Given the description of an element on the screen output the (x, y) to click on. 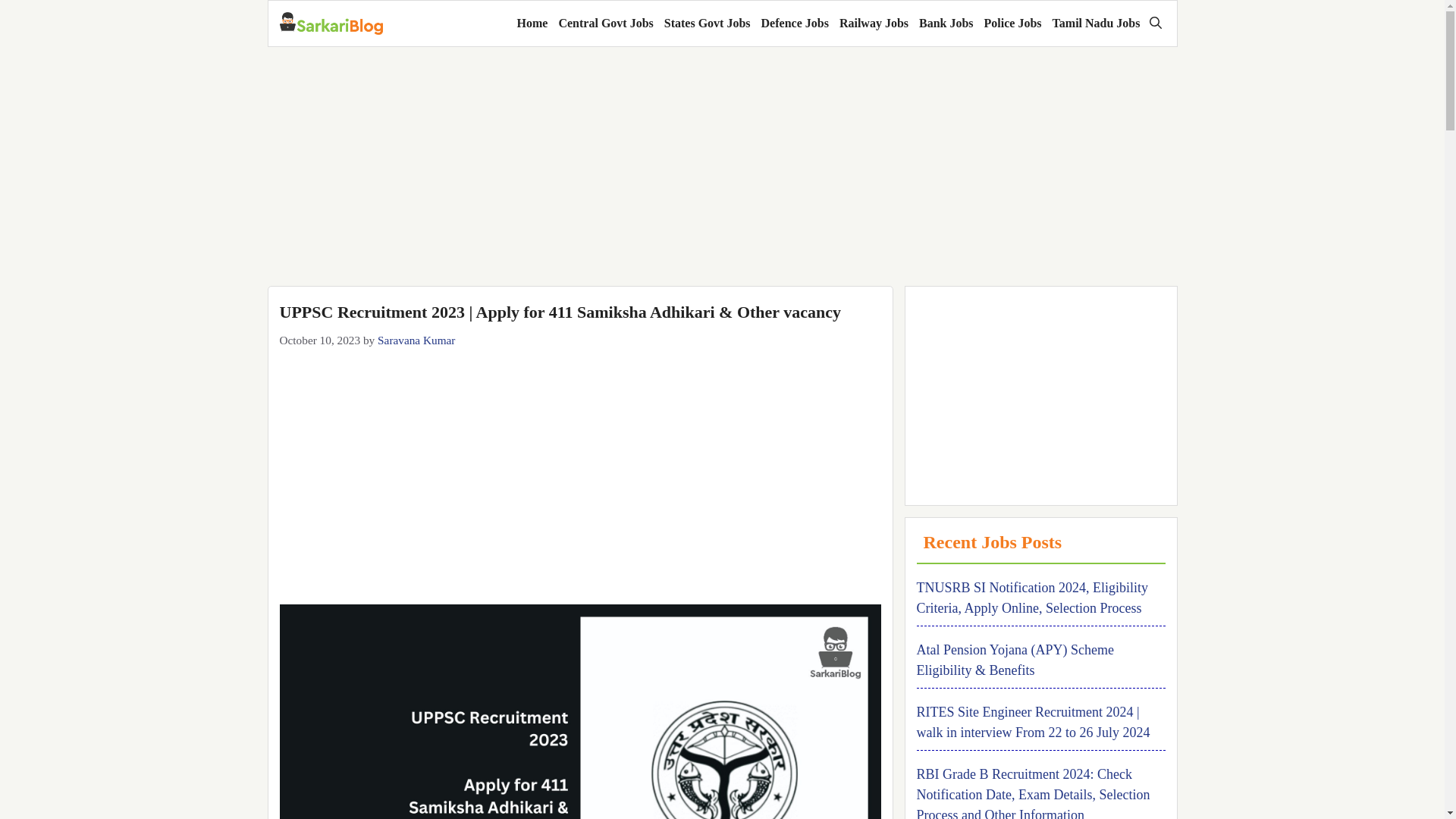
Tamil Nadu Jobs (1095, 22)
View all posts by Saravana Kumar (415, 339)
Central Govt Jobs (605, 22)
States Govt Jobs (707, 22)
Saravana Kumar (415, 339)
Railway Jobs (874, 22)
Police Jobs (1012, 22)
Bank Jobs (946, 22)
Defence Jobs (794, 22)
UPPSC Recruitment 2023 1 (579, 711)
Advertisement (580, 463)
Sarkari Blog: Latest Government Jobs 2024 Notification (330, 23)
Home (532, 22)
